Given the description of an element on the screen output the (x, y) to click on. 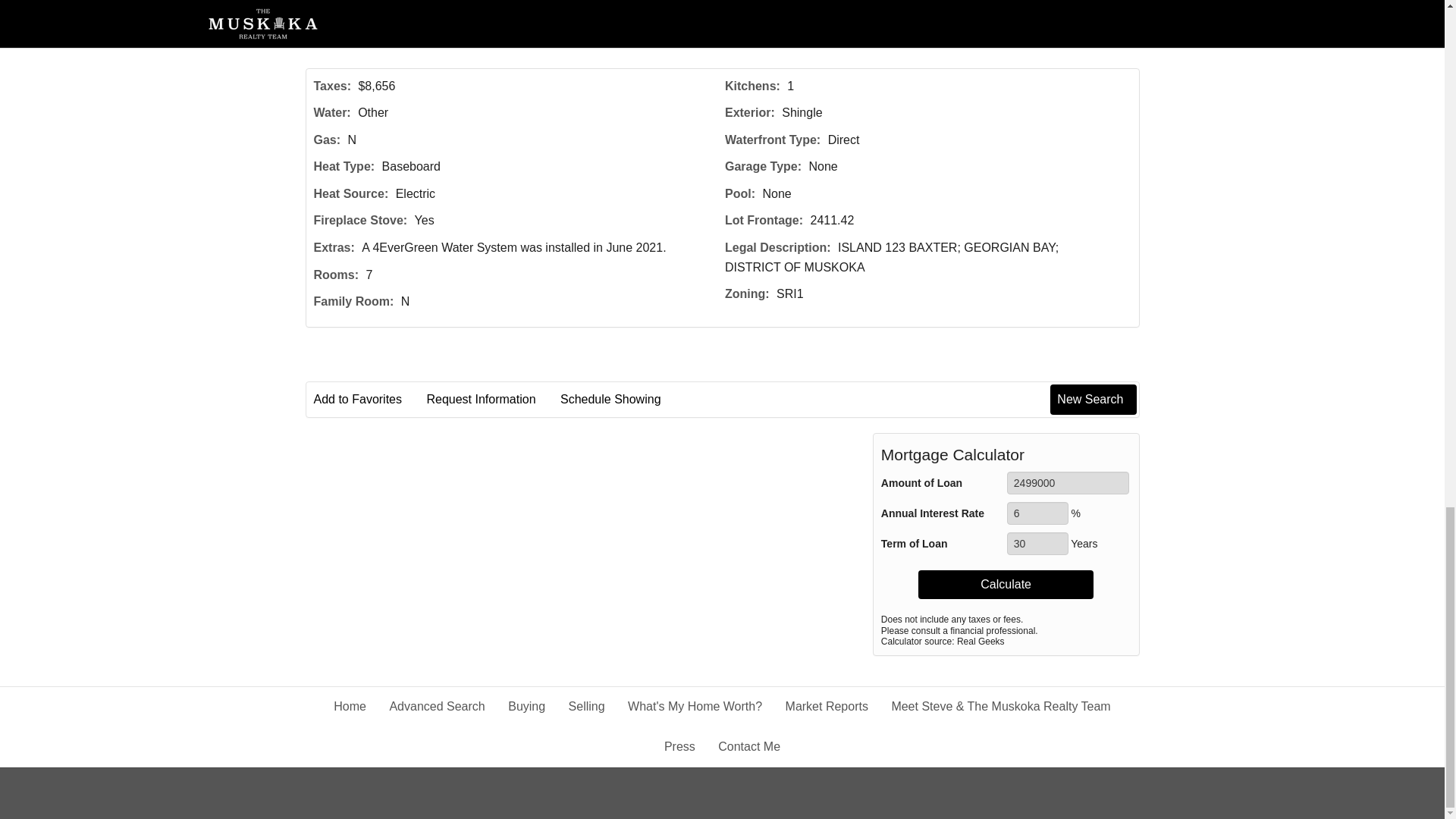
6 (1037, 513)
2499000 (1068, 482)
30 (1037, 543)
